Given the description of an element on the screen output the (x, y) to click on. 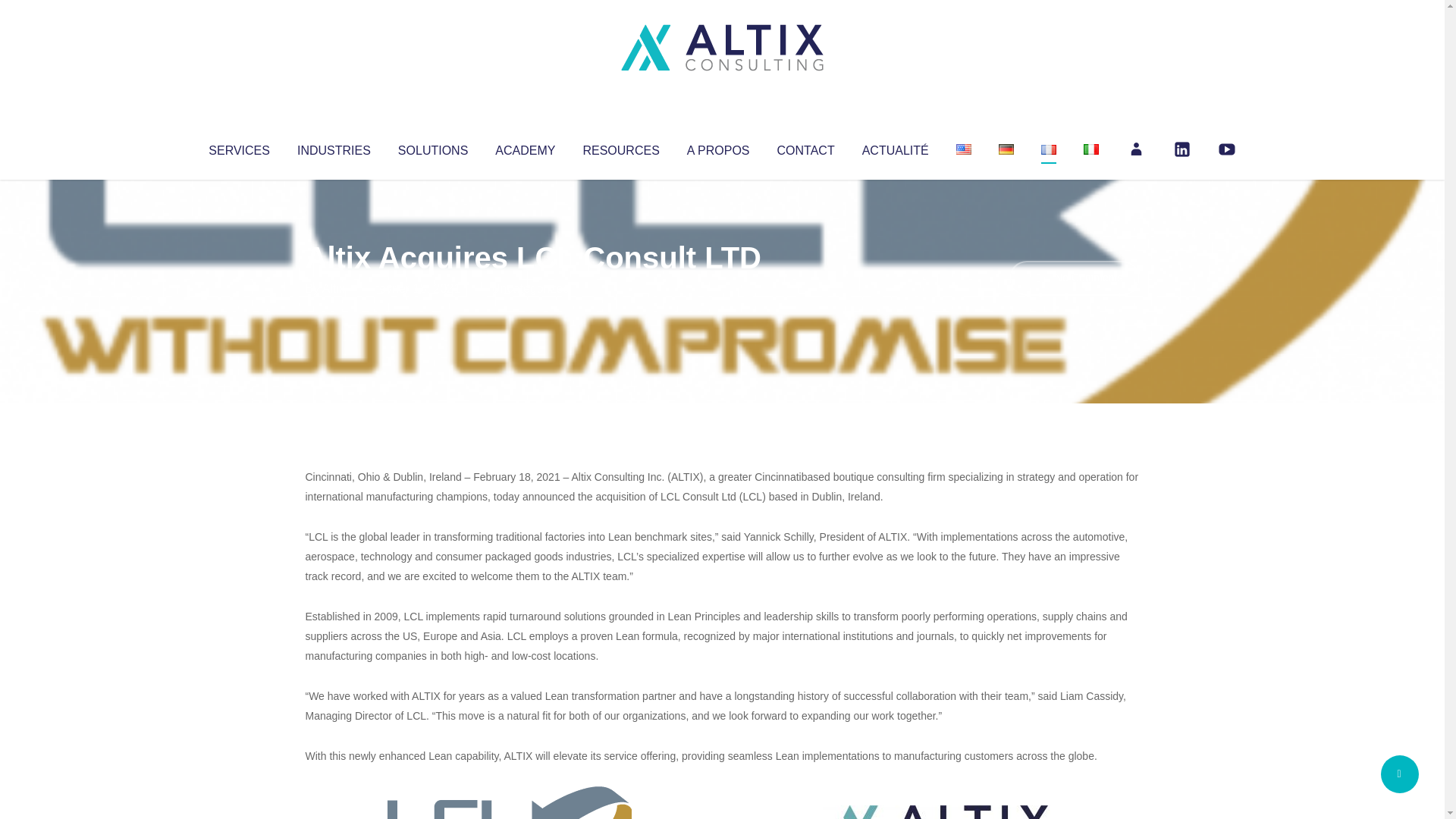
Uncategorized (530, 287)
RESOURCES (620, 146)
SOLUTIONS (432, 146)
SERVICES (238, 146)
ACADEMY (524, 146)
Altix (333, 287)
INDUSTRIES (334, 146)
A PROPOS (718, 146)
Articles par Altix (333, 287)
No Comments (1073, 278)
